Given the description of an element on the screen output the (x, y) to click on. 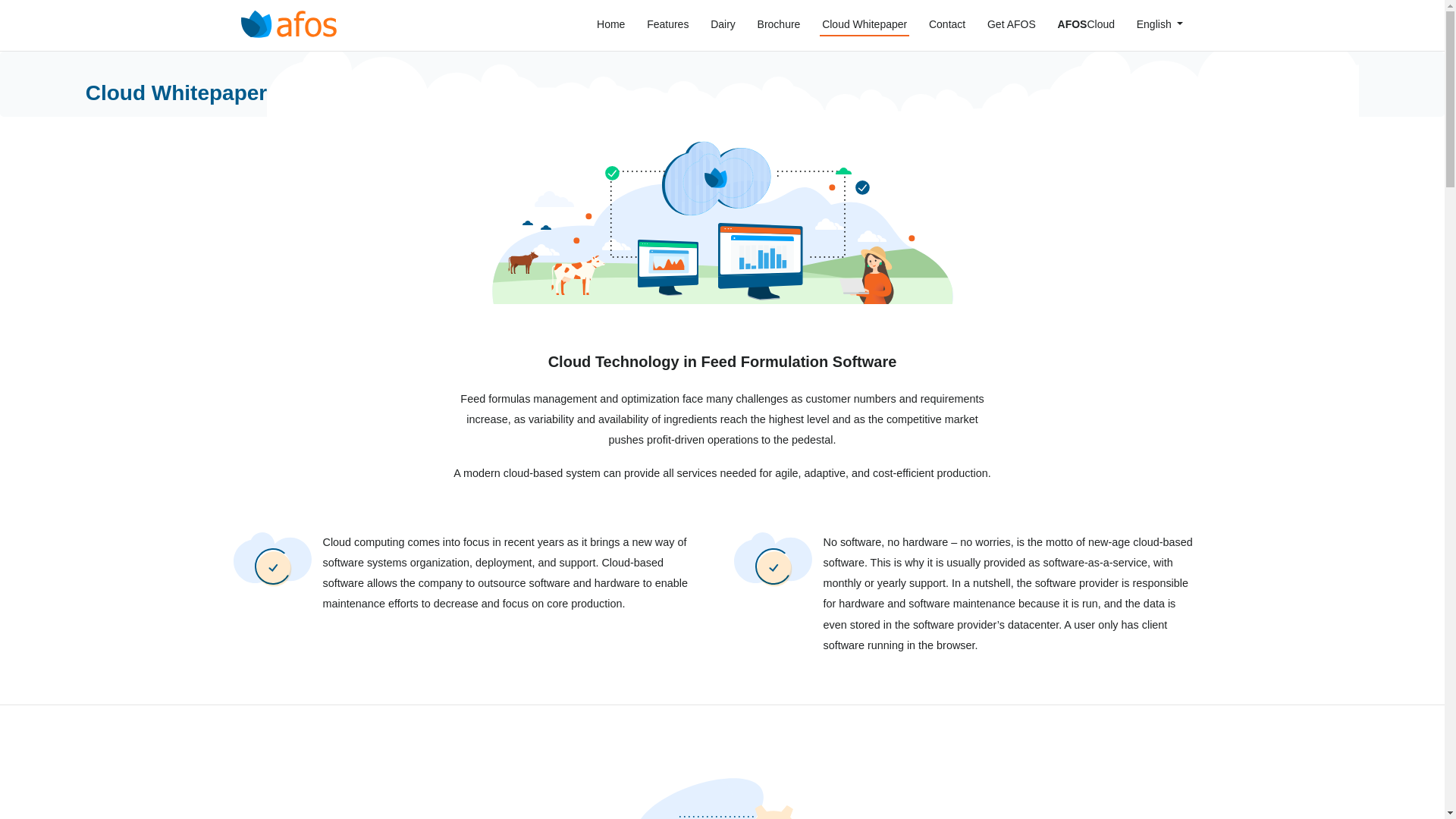
AFOSCloud (1085, 24)
Cloud Whitepaper (863, 25)
Contact (947, 24)
Get AFOS (1011, 24)
Home (610, 24)
English (1160, 24)
Brochure (778, 24)
Dairy (722, 24)
Features (668, 24)
